Given the description of an element on the screen output the (x, y) to click on. 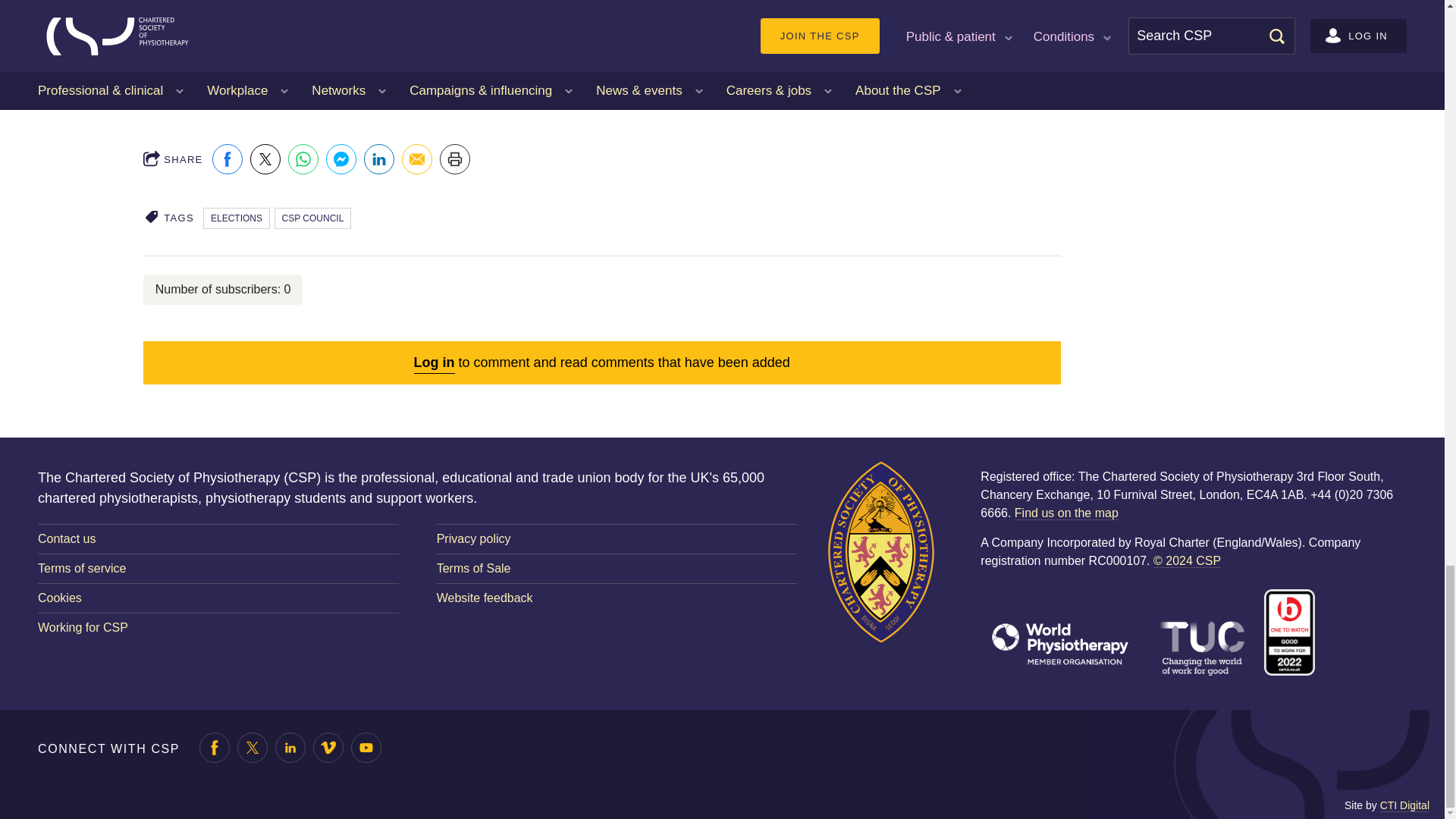
Email (416, 159)
Facebook (227, 159)
WhatsApp (303, 159)
Linkedin (379, 159)
Facebook messenger (341, 159)
